Given the description of an element on the screen output the (x, y) to click on. 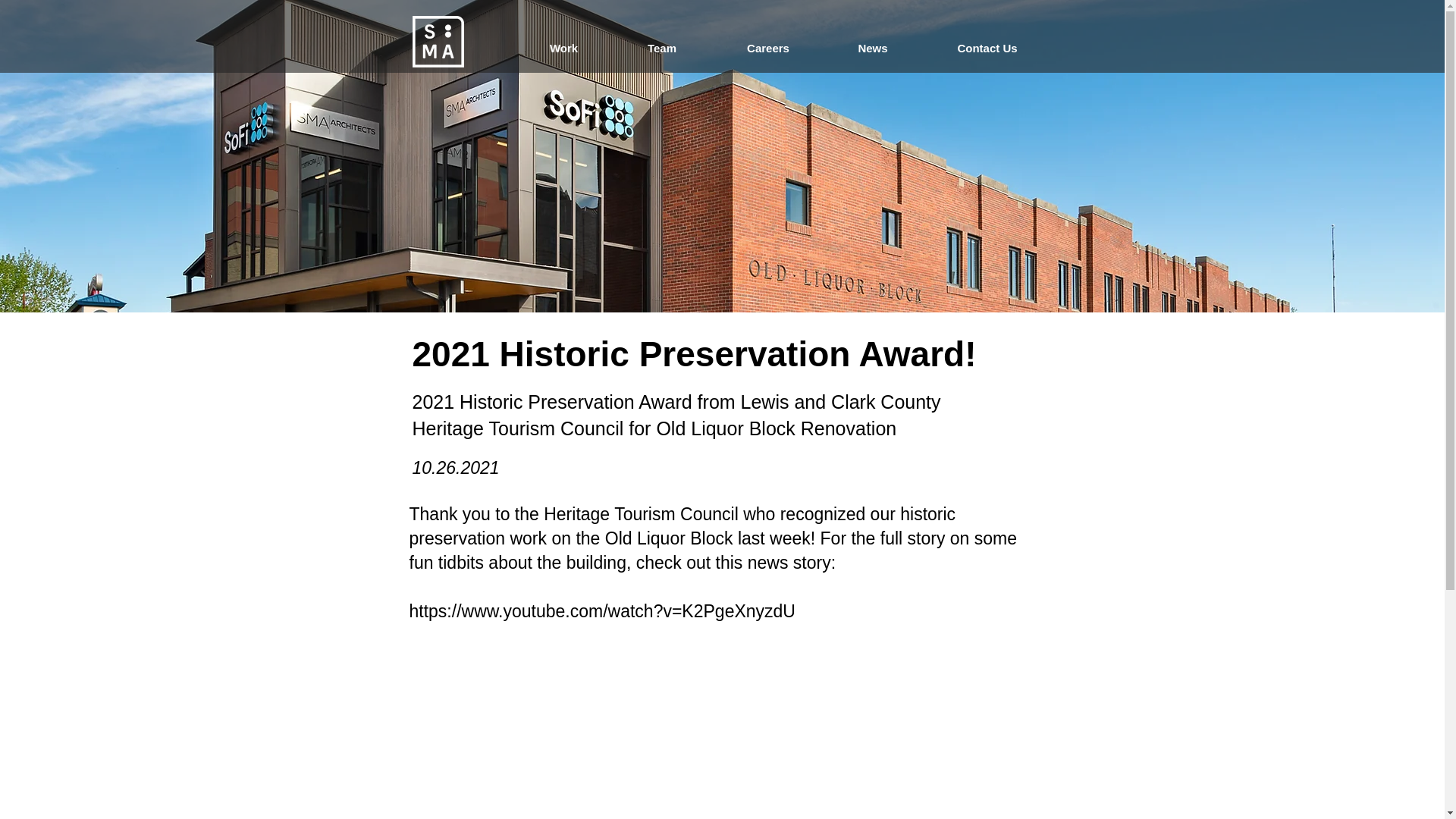
Team (661, 48)
Careers (768, 48)
Contact Us (986, 48)
Work (563, 48)
News (872, 48)
